Given the description of an element on the screen output the (x, y) to click on. 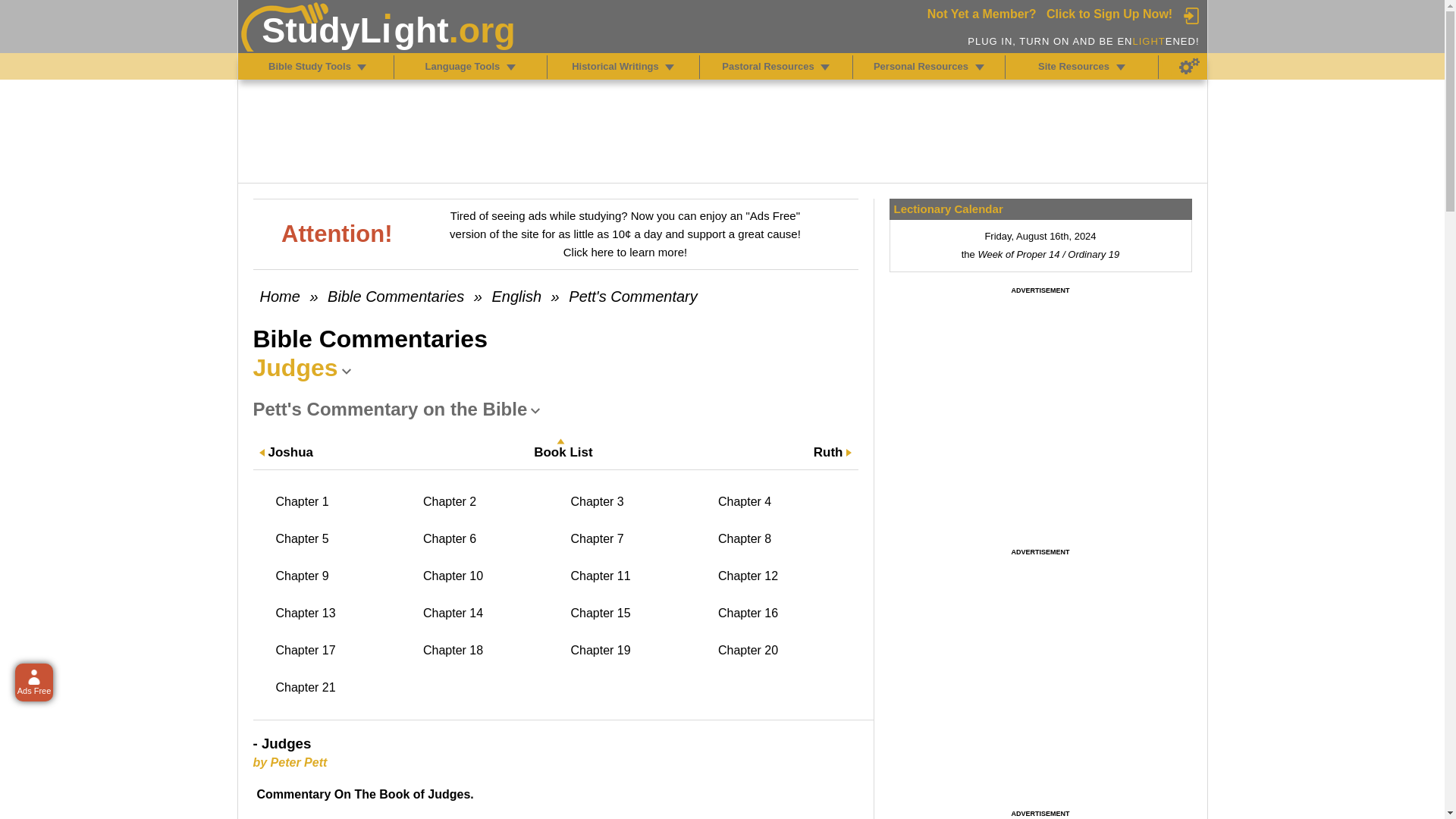
Ruth (828, 452)
Chapter 1 (342, 501)
English (516, 296)
Chapter 16 (783, 613)
Chapter 15 (636, 613)
Book List (563, 452)
Chapter 14 (489, 613)
Bible Commentaries (395, 296)
Chapter 11 (636, 575)
Chapter 3 (636, 501)
